Given the description of an element on the screen output the (x, y) to click on. 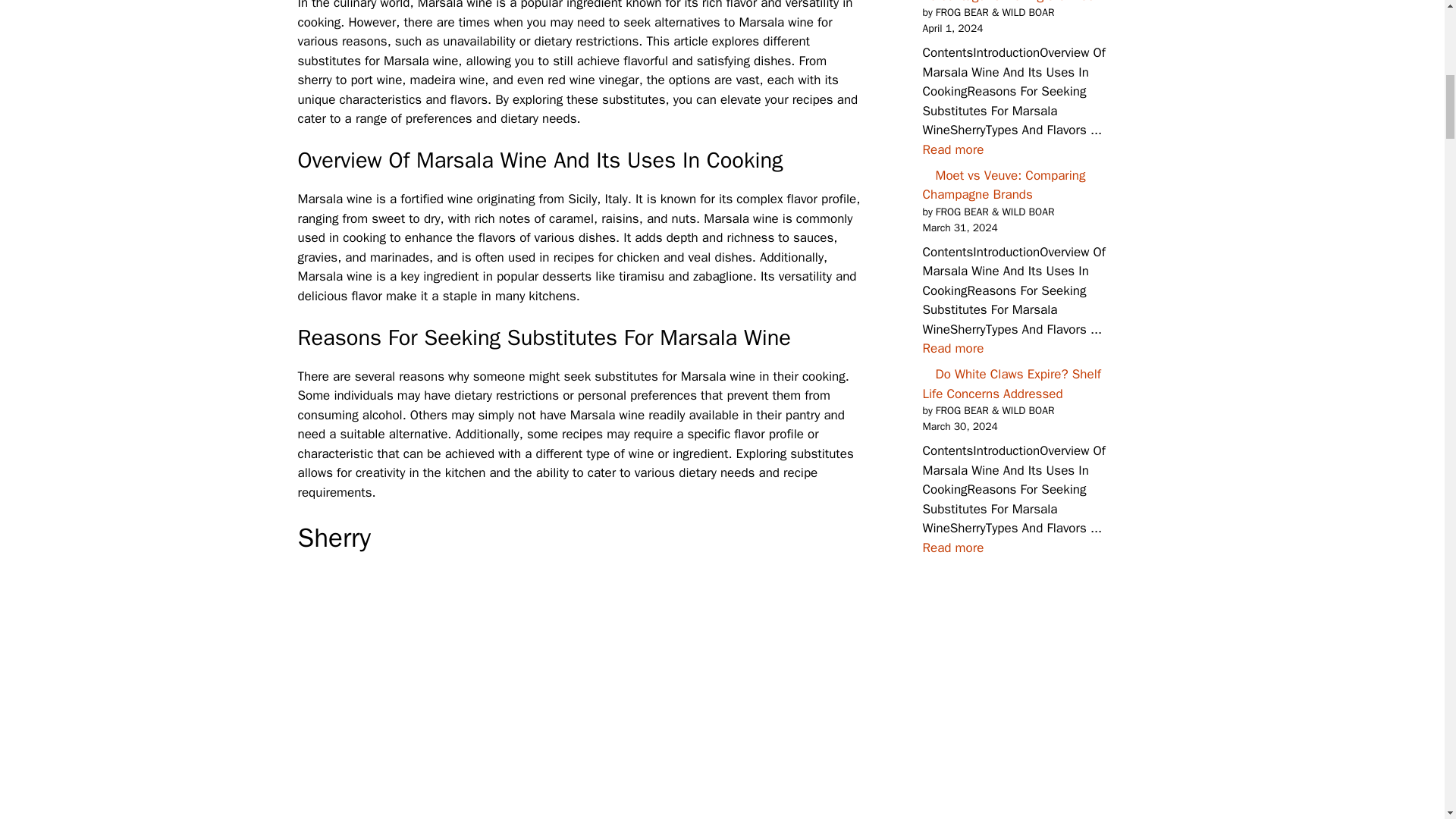
Scroll back to top (1406, 720)
Jack Daniels Alcohol Percentage: Unveiling the Proof (952, 149)
Substitute for Marsala Wine: Exploring Cooking Alternatives (579, 693)
Do White Claws Expire? Shelf Life Concerns Addressed (952, 547)
Moet vs Veuve: Comparing Champagne Brands (952, 348)
